Given the description of an element on the screen output the (x, y) to click on. 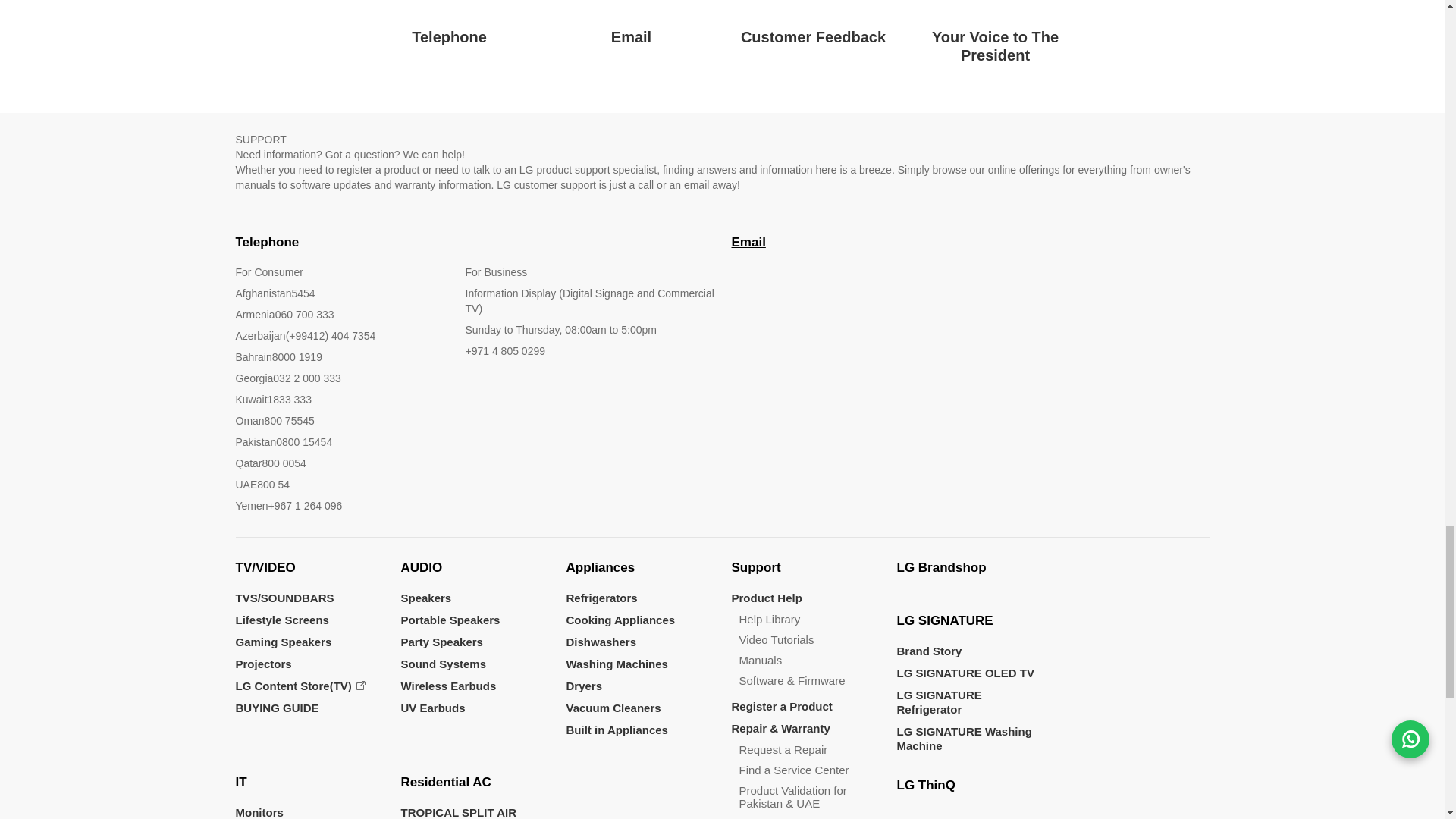
Open New Window (449, 22)
Opens in a new window (299, 685)
Open New Window (813, 22)
Open New Window (631, 22)
